Given the description of an element on the screen output the (x, y) to click on. 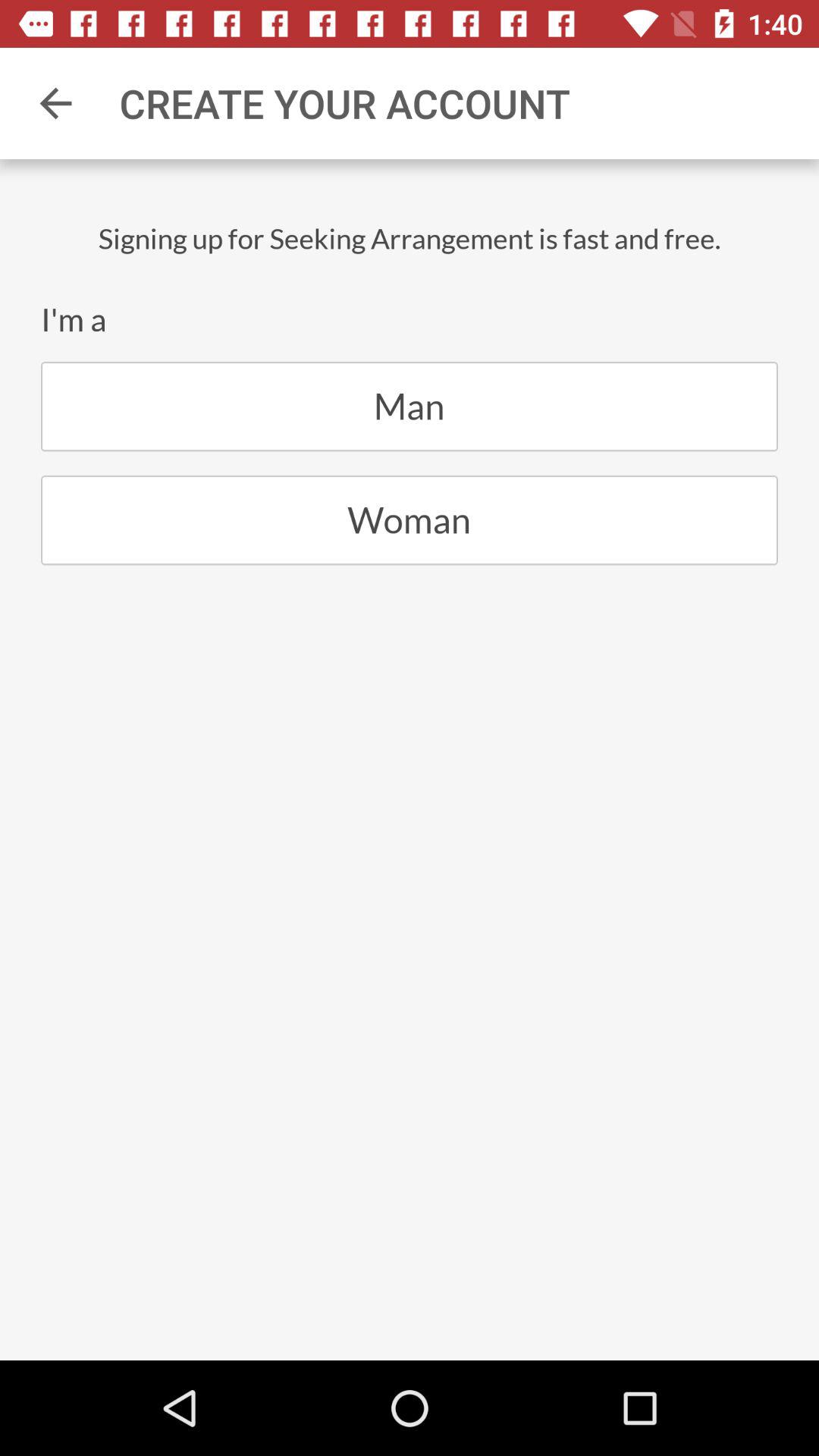
launch the app to the left of the create your account item (55, 103)
